Given the description of an element on the screen output the (x, y) to click on. 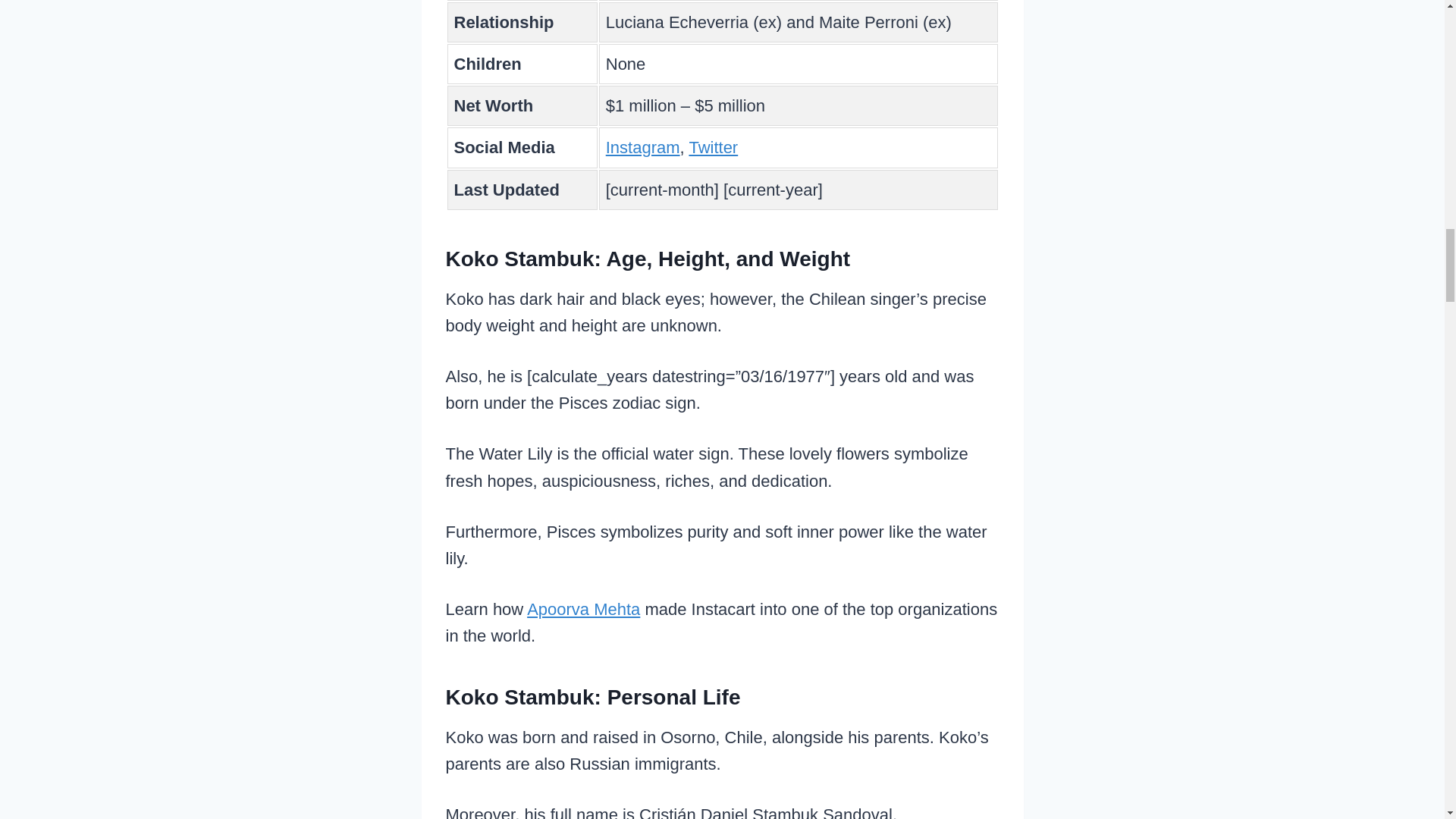
Apoorva Mehta (583, 609)
Twitter (713, 147)
Instagram (642, 147)
